Given the description of an element on the screen output the (x, y) to click on. 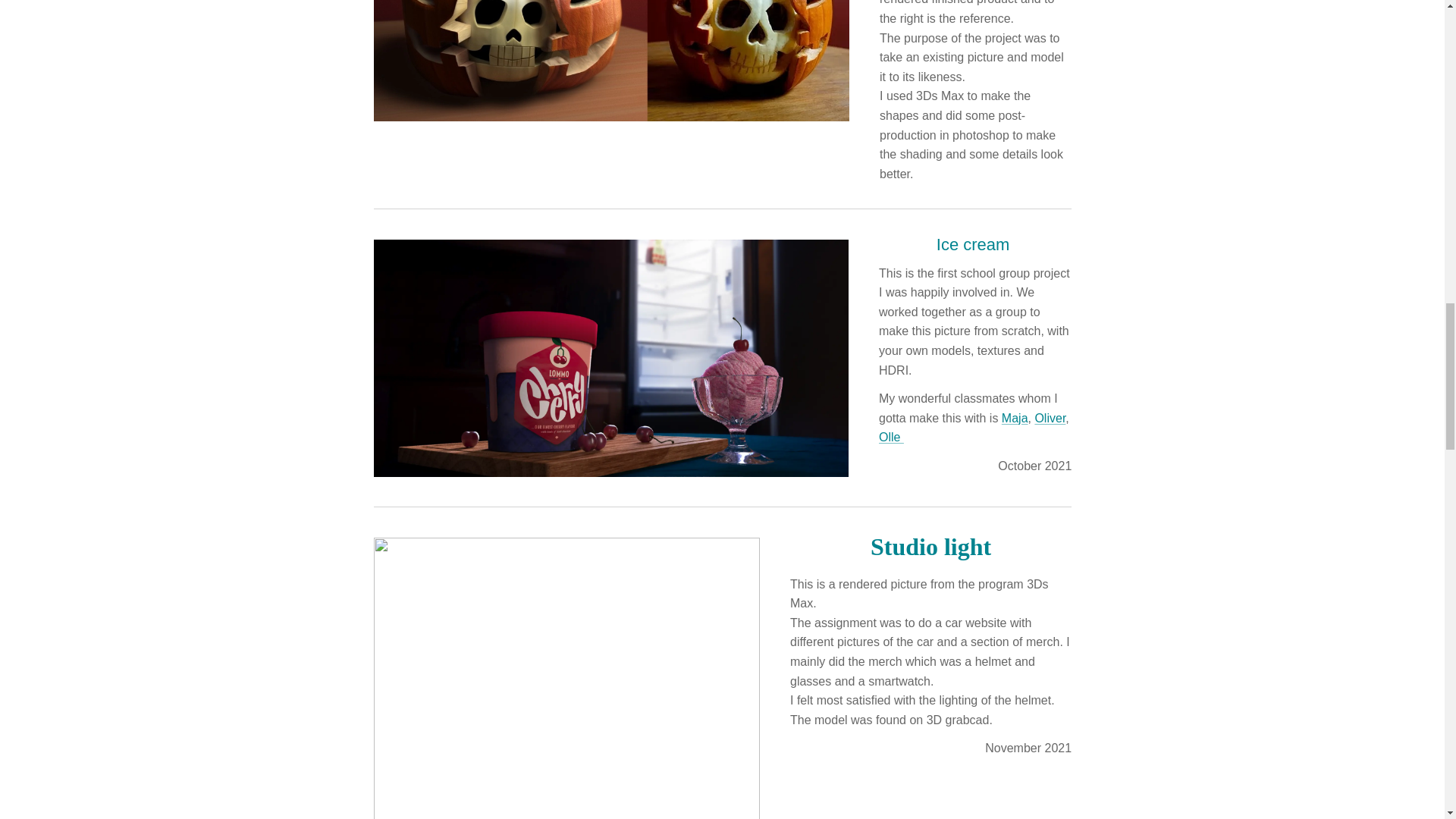
Maja (1014, 417)
Olle  (889, 436)
Oliver (1049, 417)
